Given the description of an element on the screen output the (x, y) to click on. 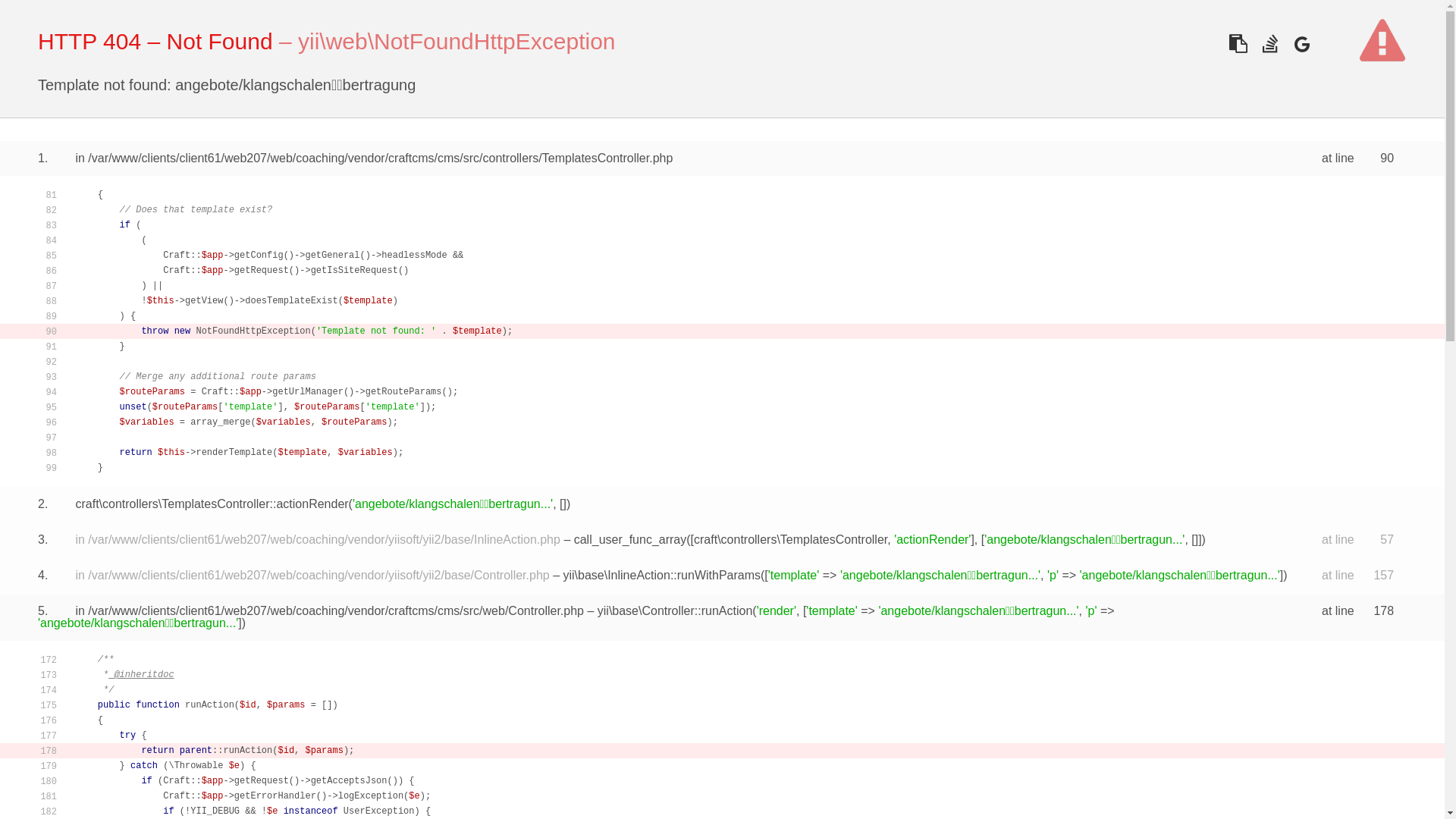
yii\base\InlineAction::runWithParams Element type: text (661, 574)
yii\base\Controller::runAction Element type: text (675, 610)
Search error on Google Element type: hover (1301, 43)
Search error on Stackoverflow Element type: hover (1269, 43)
Copy the stacktrace for use in a bug report or pastebin Element type: hover (1237, 43)
yii\web\NotFoundHttpException Element type: text (456, 40)
